Given the description of an element on the screen output the (x, y) to click on. 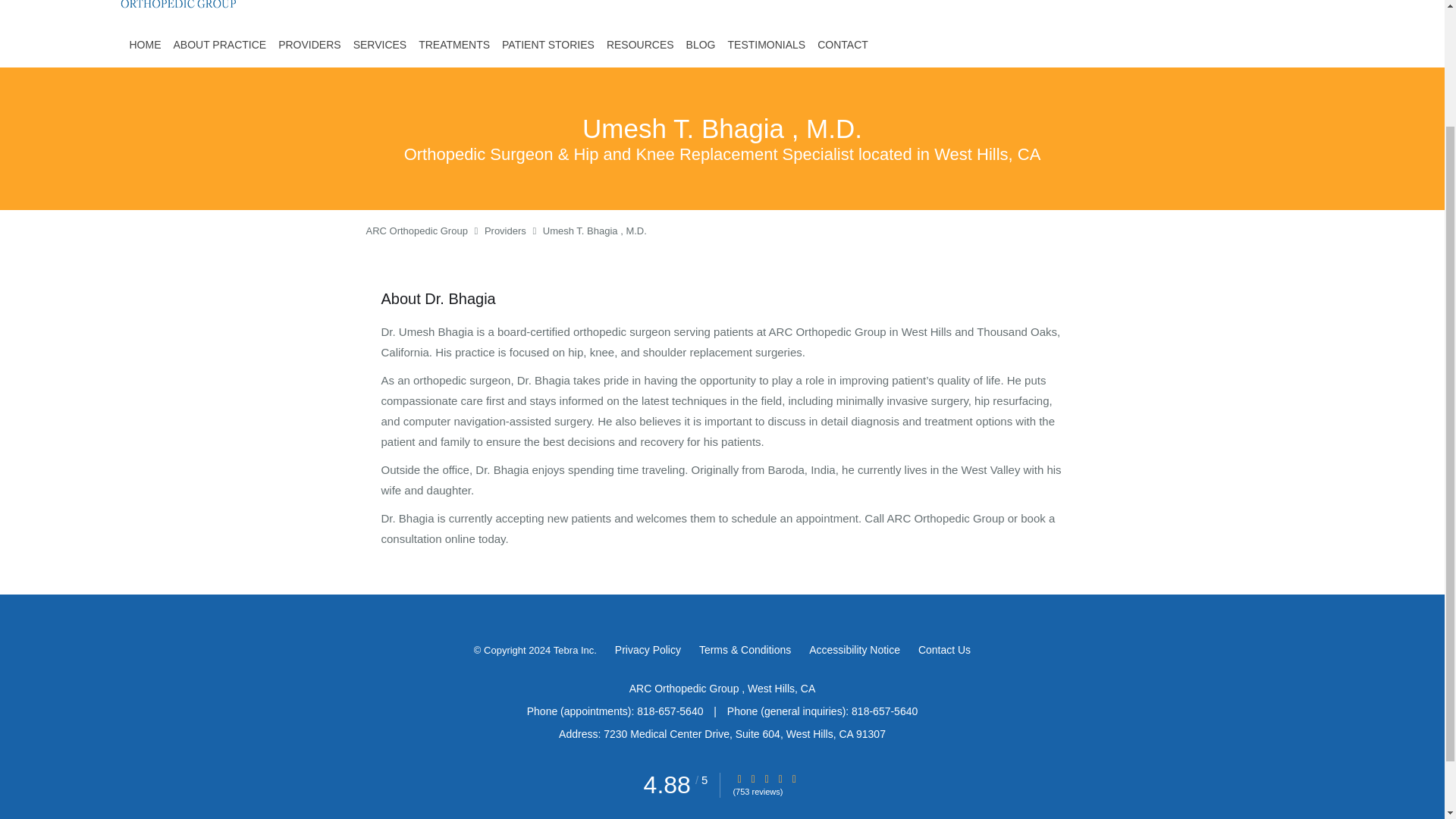
Providers (504, 230)
Star Rating (780, 778)
SERVICES (380, 44)
ABOUT PRACTICE (219, 44)
BLOG (700, 44)
Umesh T. Bhagia , M.D. (594, 230)
CONTACT (842, 44)
PROVIDERS (309, 44)
Star Rating (794, 778)
Contact Us (944, 649)
